Given the description of an element on the screen output the (x, y) to click on. 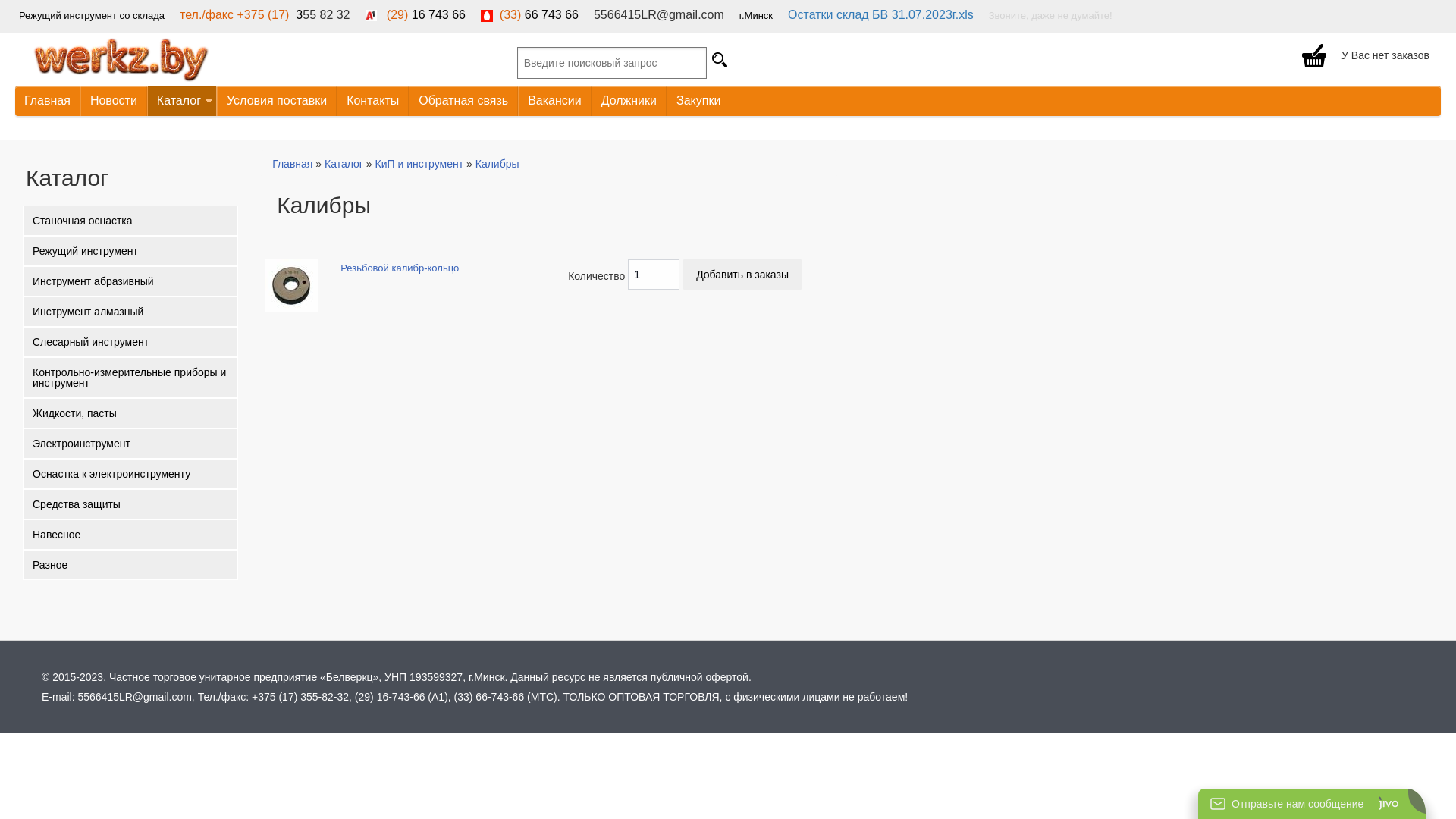
.xls Element type: text (964, 14)
  (33) 66 743 66 Element type: text (529, 14)
   (29) 16 743 66 Element type: text (415, 14)
